Given the description of an element on the screen output the (x, y) to click on. 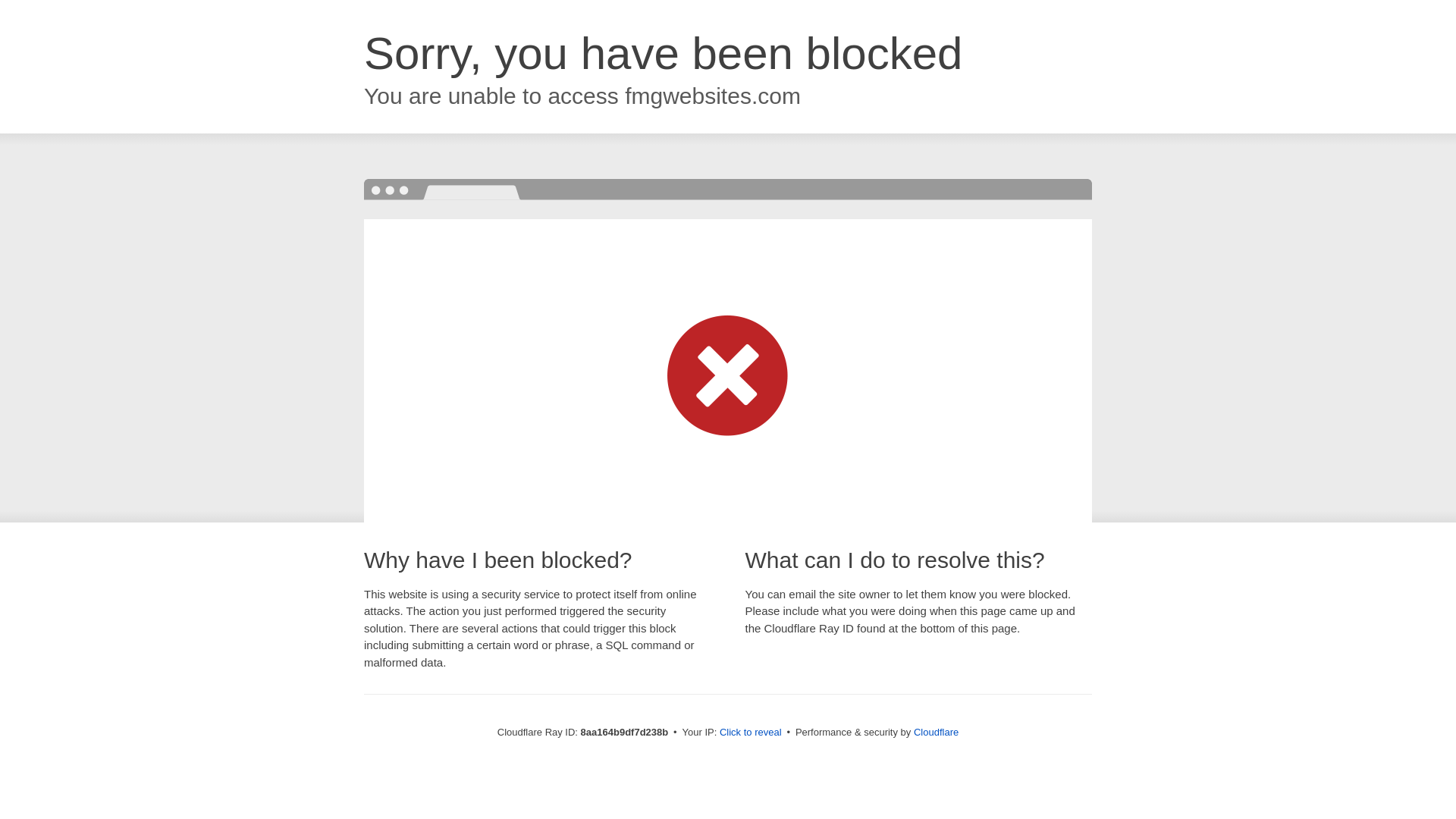
Cloudflare (936, 731)
Click to reveal (750, 732)
